Given the description of an element on the screen output the (x, y) to click on. 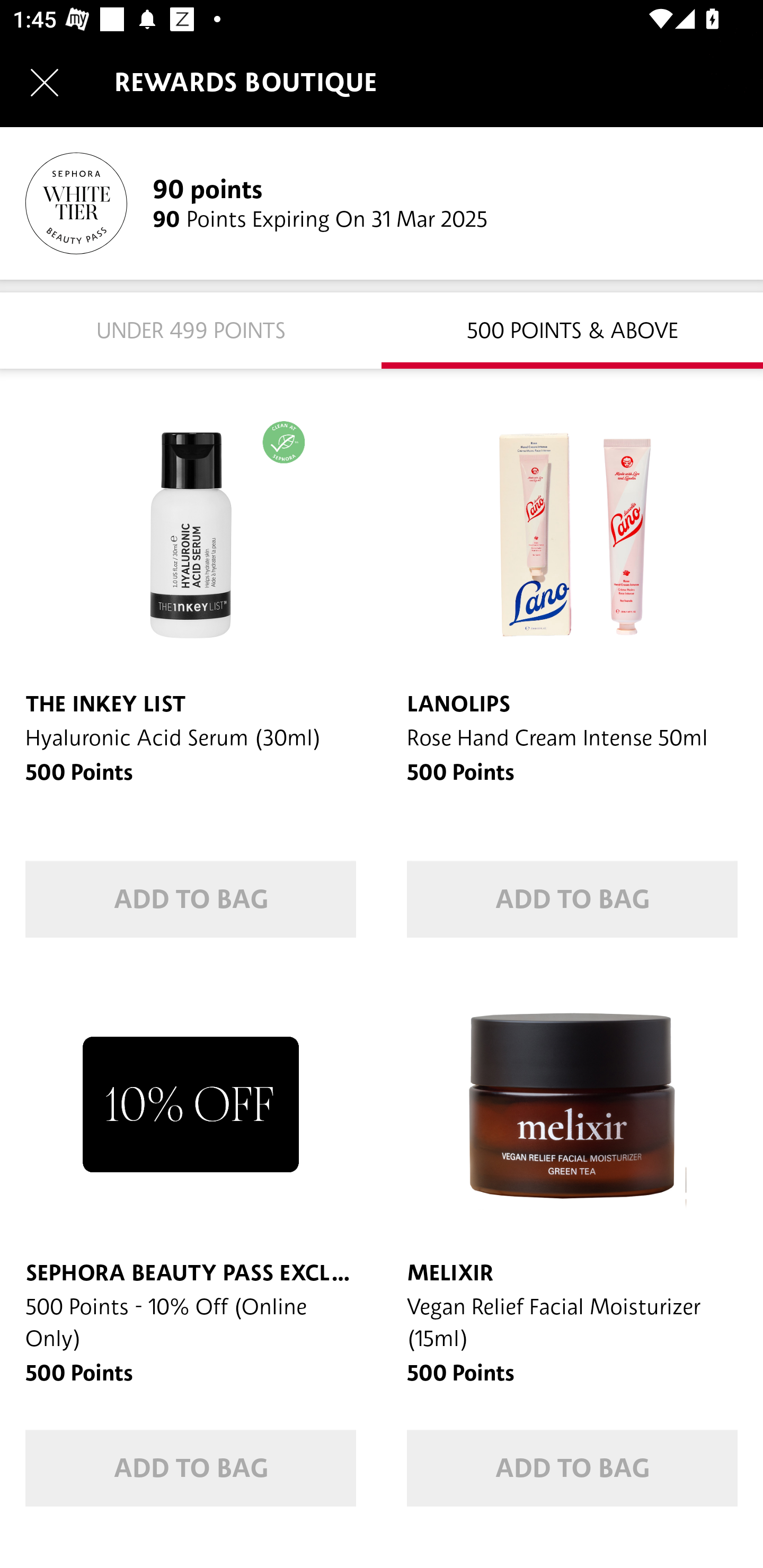
Navigate up (44, 82)
Under 499 Points UNDER 499 POINTS (190, 329)
ADD TO BAG (190, 898)
ADD TO BAG (571, 898)
ADD TO BAG (190, 1468)
ADD TO BAG (571, 1468)
